Given the description of an element on the screen output the (x, y) to click on. 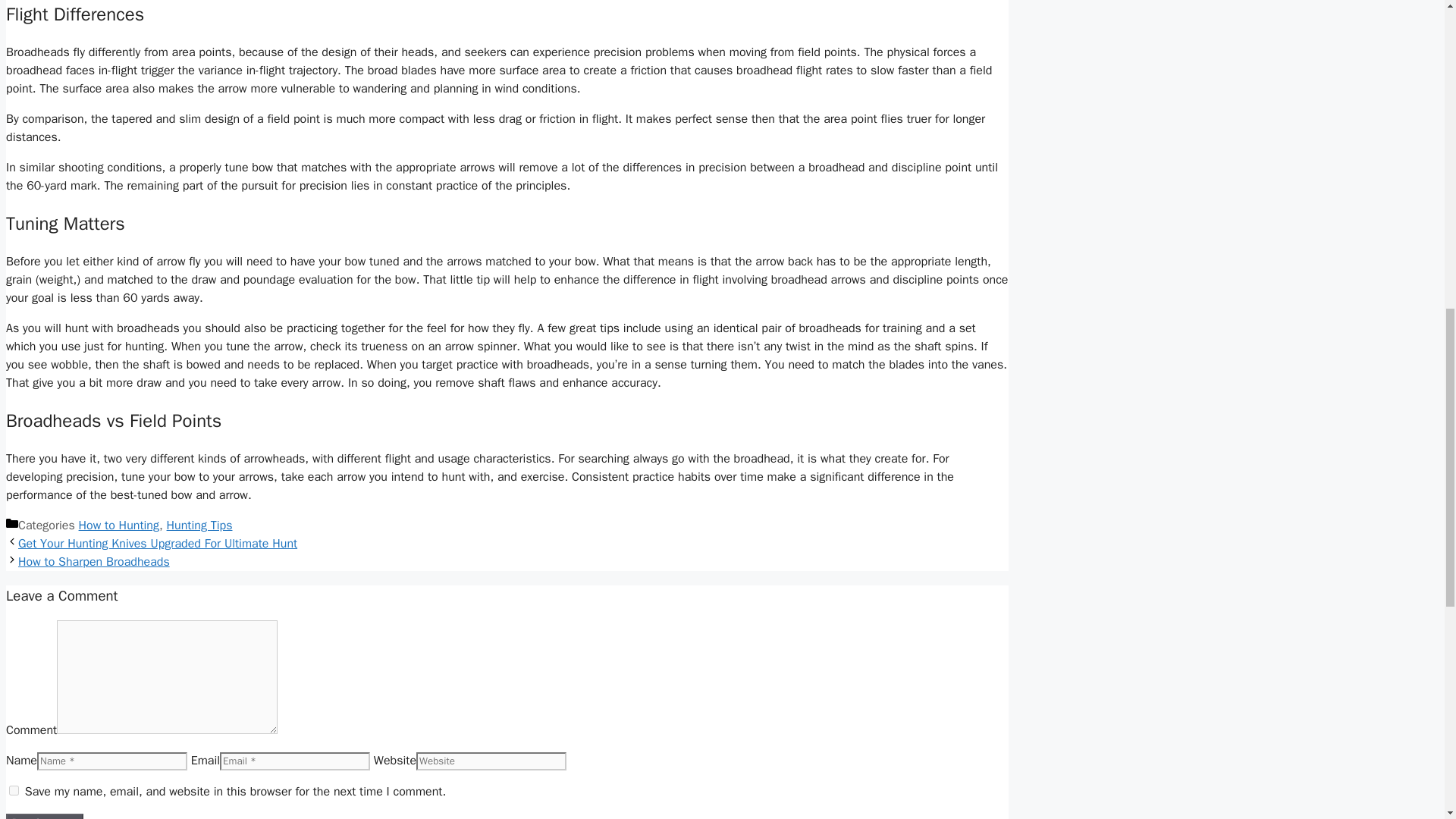
Post Comment (43, 816)
How to Sharpen Broadheads (93, 561)
Hunting Tips (199, 525)
Post Comment (43, 816)
yes (13, 790)
How to Hunting (118, 525)
Get Your Hunting Knives Upgraded For Ultimate Hunt (157, 543)
